Given the description of an element on the screen output the (x, y) to click on. 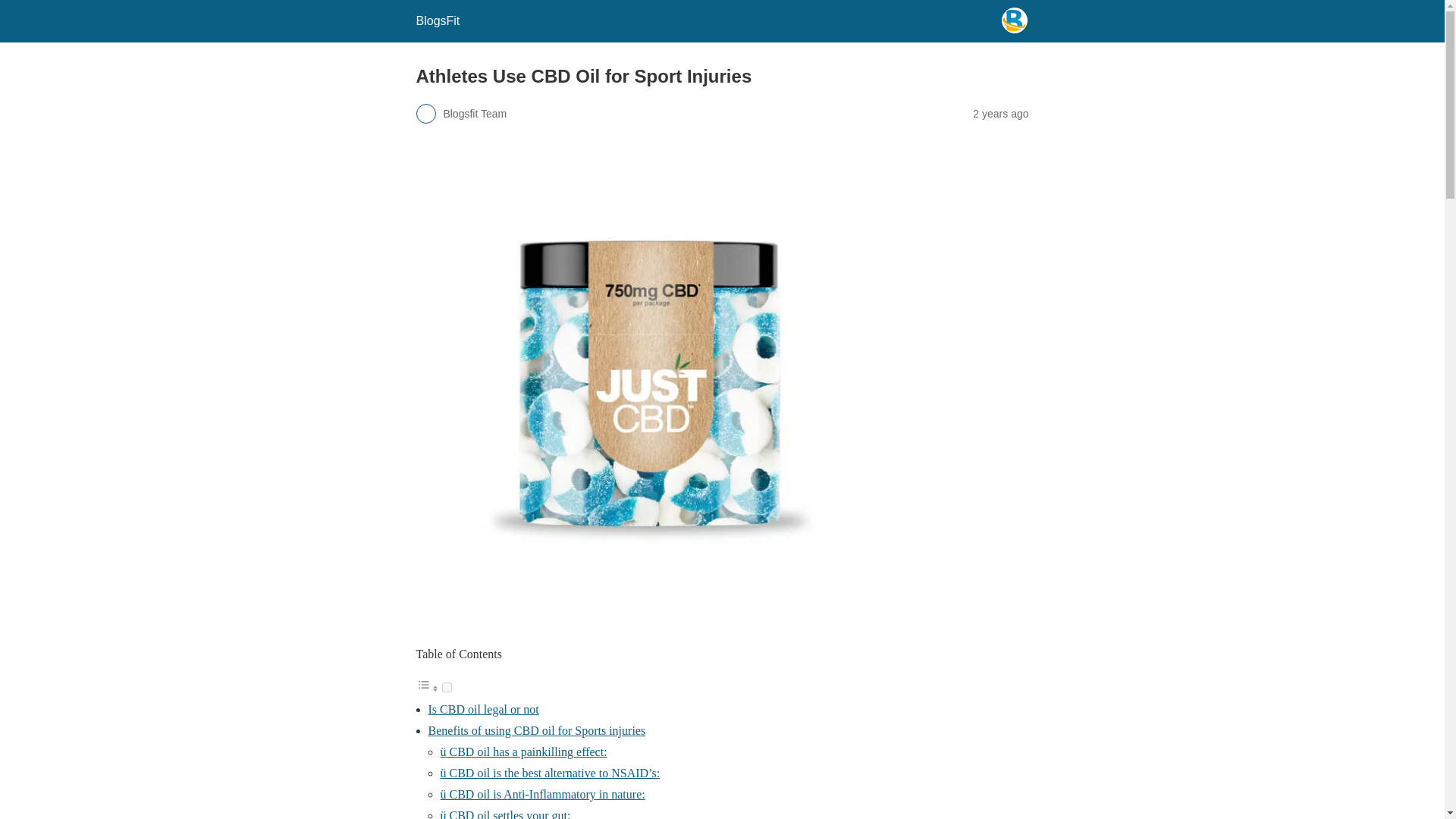
Is CBD oil legal or not (483, 708)
BlogsFit (437, 20)
on (446, 687)
Is CBD oil legal or not (483, 708)
Benefits of using CBD oil for Sports injuries (536, 730)
Benefits of using CBD oil for Sports injuries (536, 730)
